Given the description of an element on the screen output the (x, y) to click on. 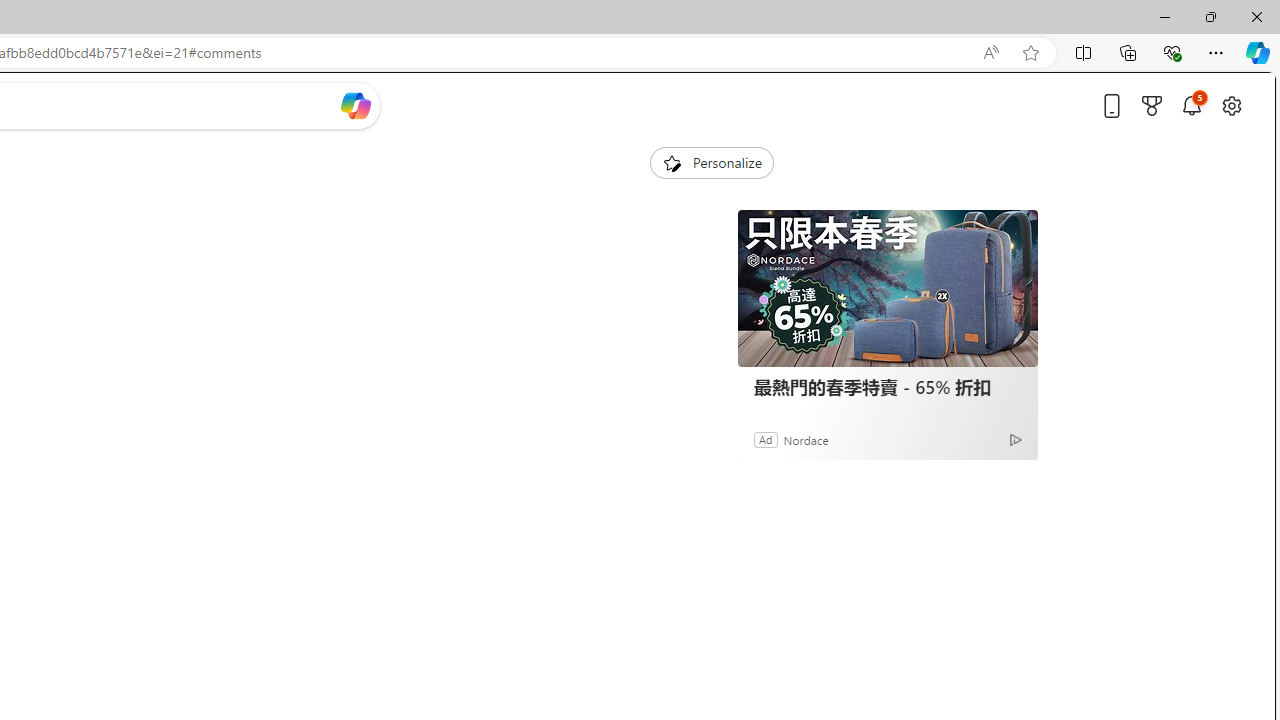
Microsoft rewards (1151, 105)
To get missing image descriptions, open the context menu. (671, 162)
Open settings (1231, 105)
